Given the description of an element on the screen output the (x, y) to click on. 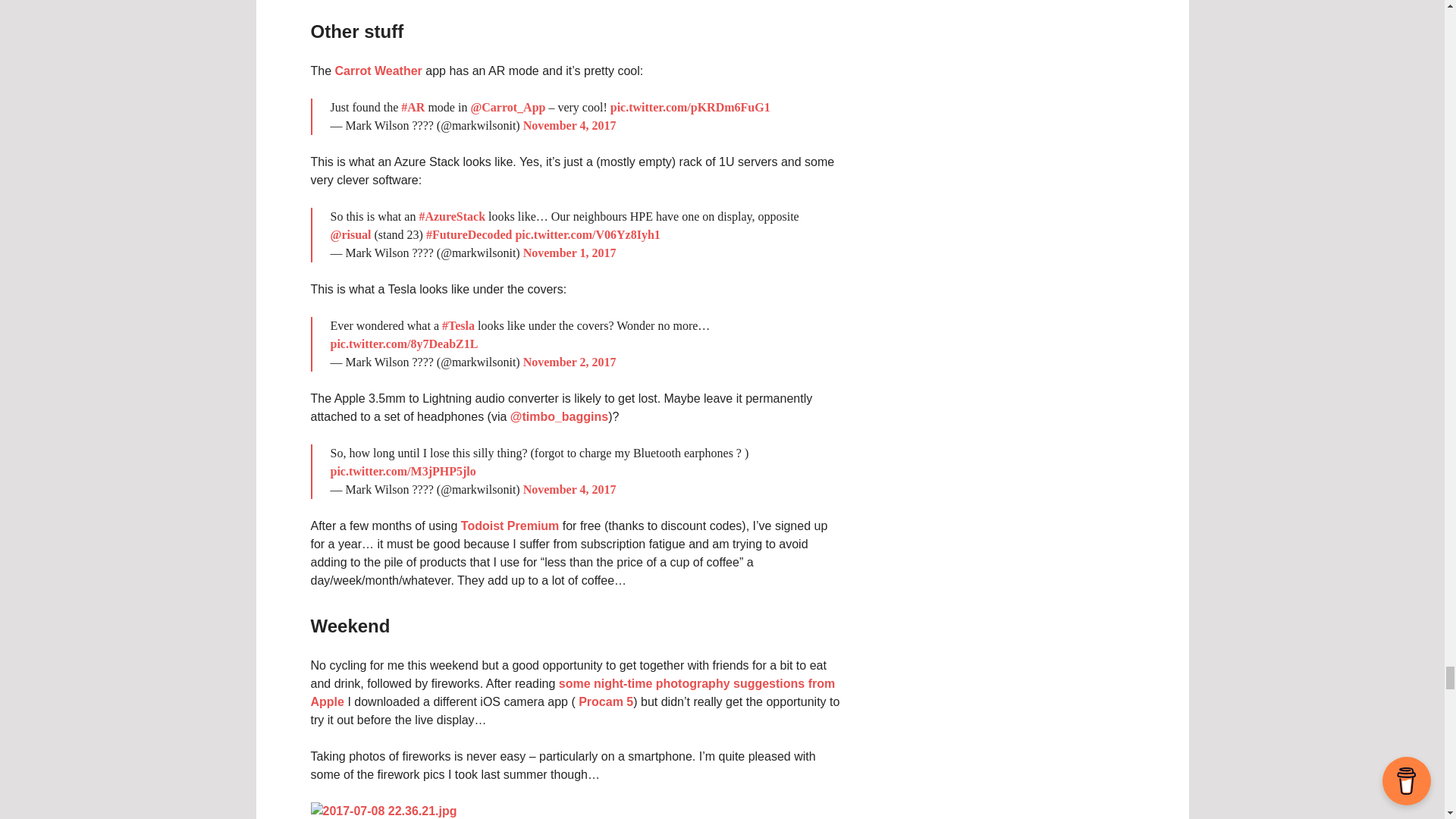
2017-07-08 22.36.21.jpg (384, 810)
